Given the description of an element on the screen output the (x, y) to click on. 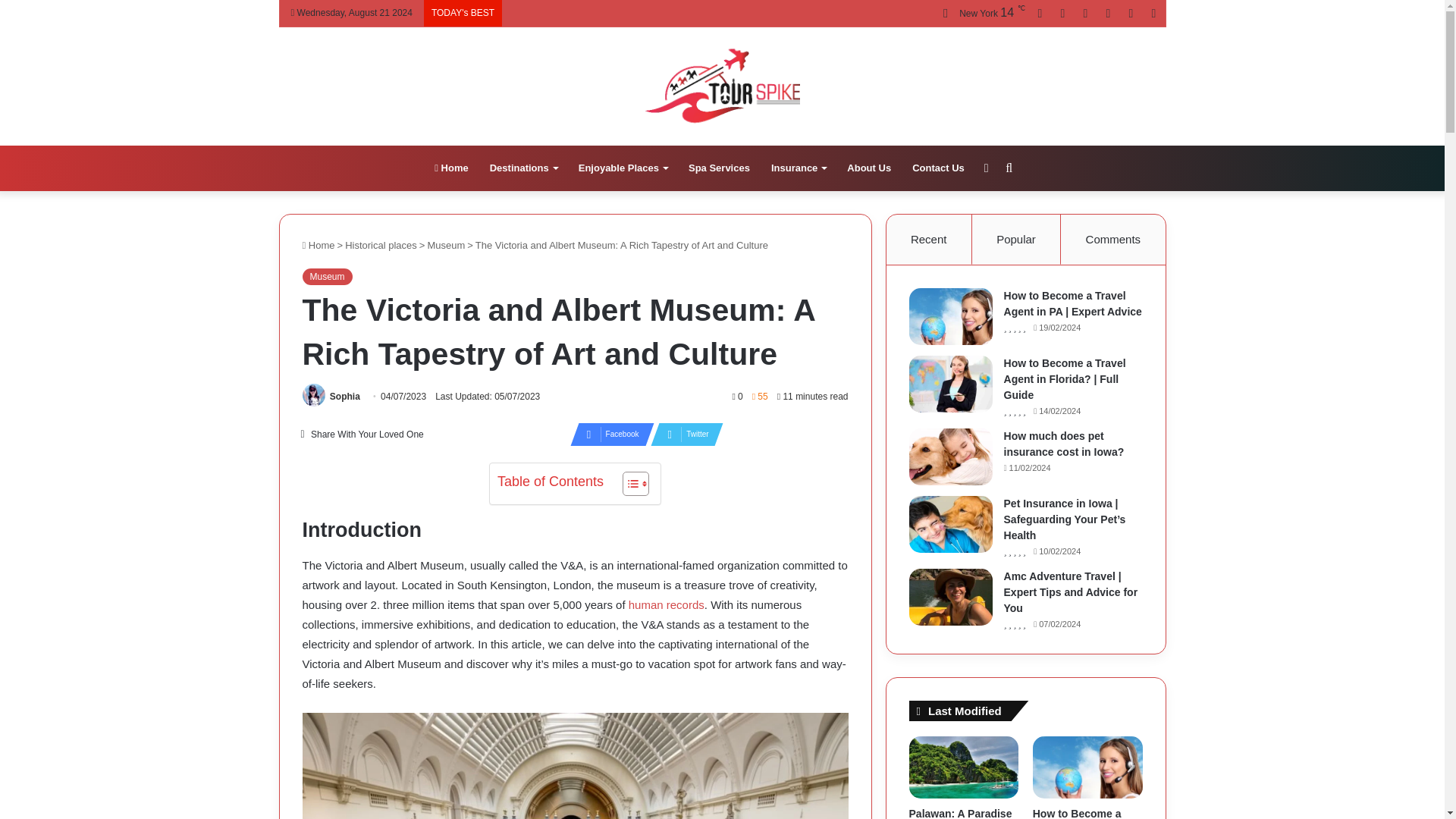
Home (451, 167)
Tour Spike (722, 85)
Clear Sky (978, 13)
Enjoyable Places (622, 167)
Sophia (344, 396)
Twitter (682, 434)
Destinations (523, 167)
Facebook (607, 434)
Spa Services (719, 167)
Insurance (797, 167)
